Given the description of an element on the screen output the (x, y) to click on. 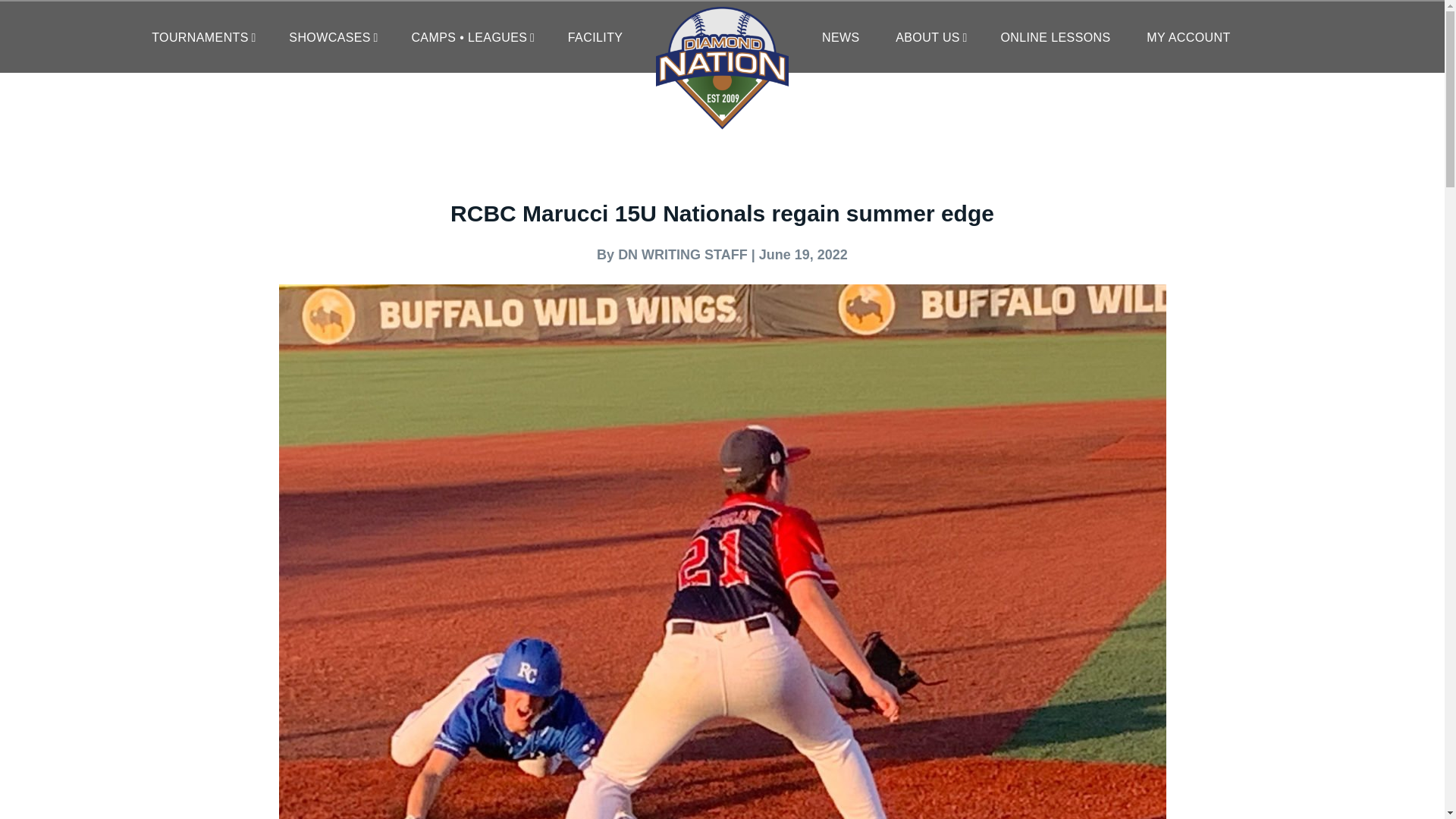
ONLINE LESSONS (1054, 37)
ABOUT US (929, 37)
SHOWCASES (331, 37)
NEWS (840, 37)
TOURNAMENTS (201, 37)
FACILITY (595, 37)
MY ACCOUNT (1187, 37)
